Given the description of an element on the screen output the (x, y) to click on. 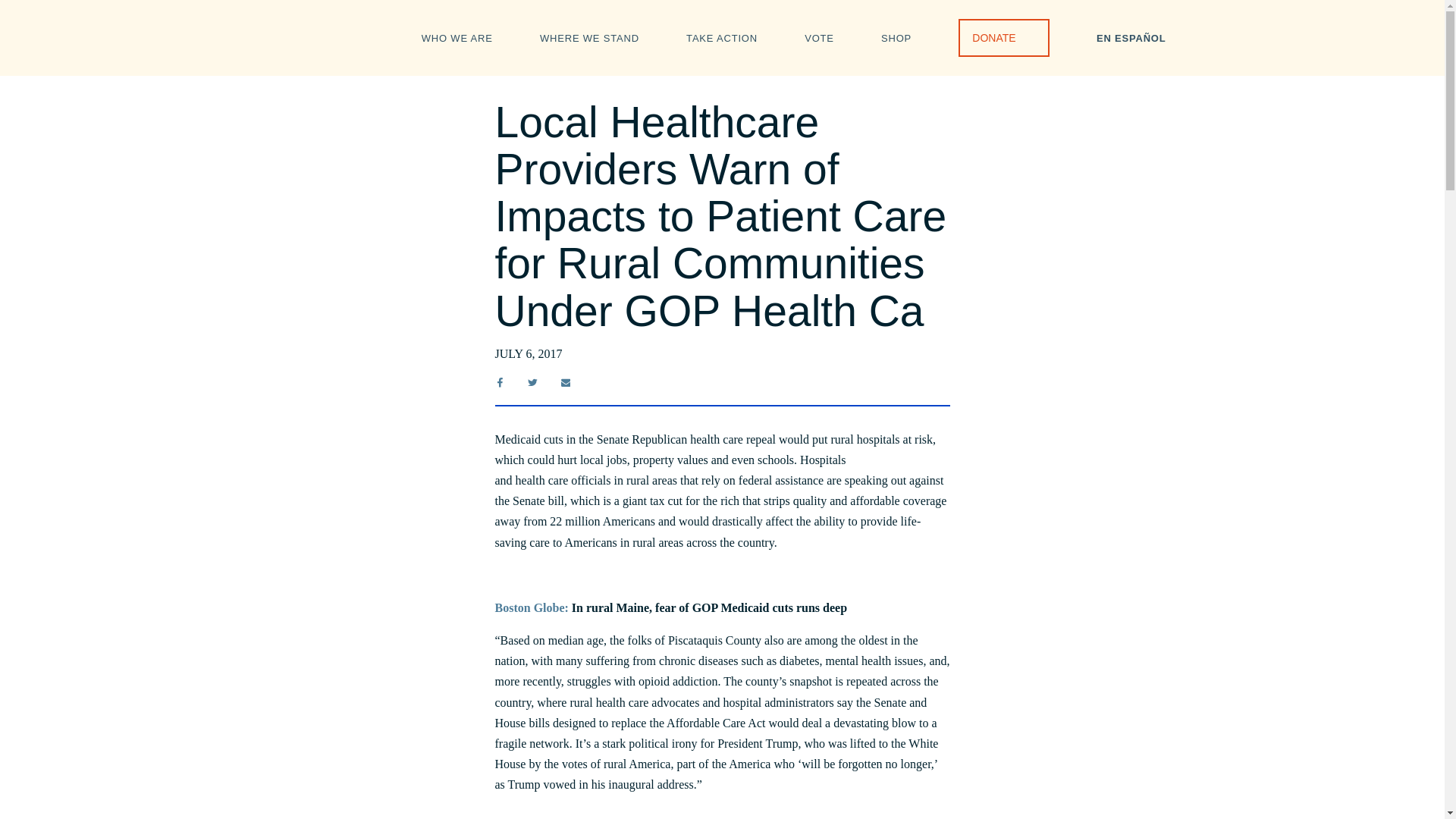
facebook (499, 382)
DONATE (1003, 37)
email (565, 382)
VOTE (819, 36)
SHOP (895, 36)
WHO WE ARE (457, 36)
DNC (326, 65)
WHERE WE STAND (589, 36)
TAKE ACTION (721, 36)
twitter (532, 382)
